Given the description of an element on the screen output the (x, y) to click on. 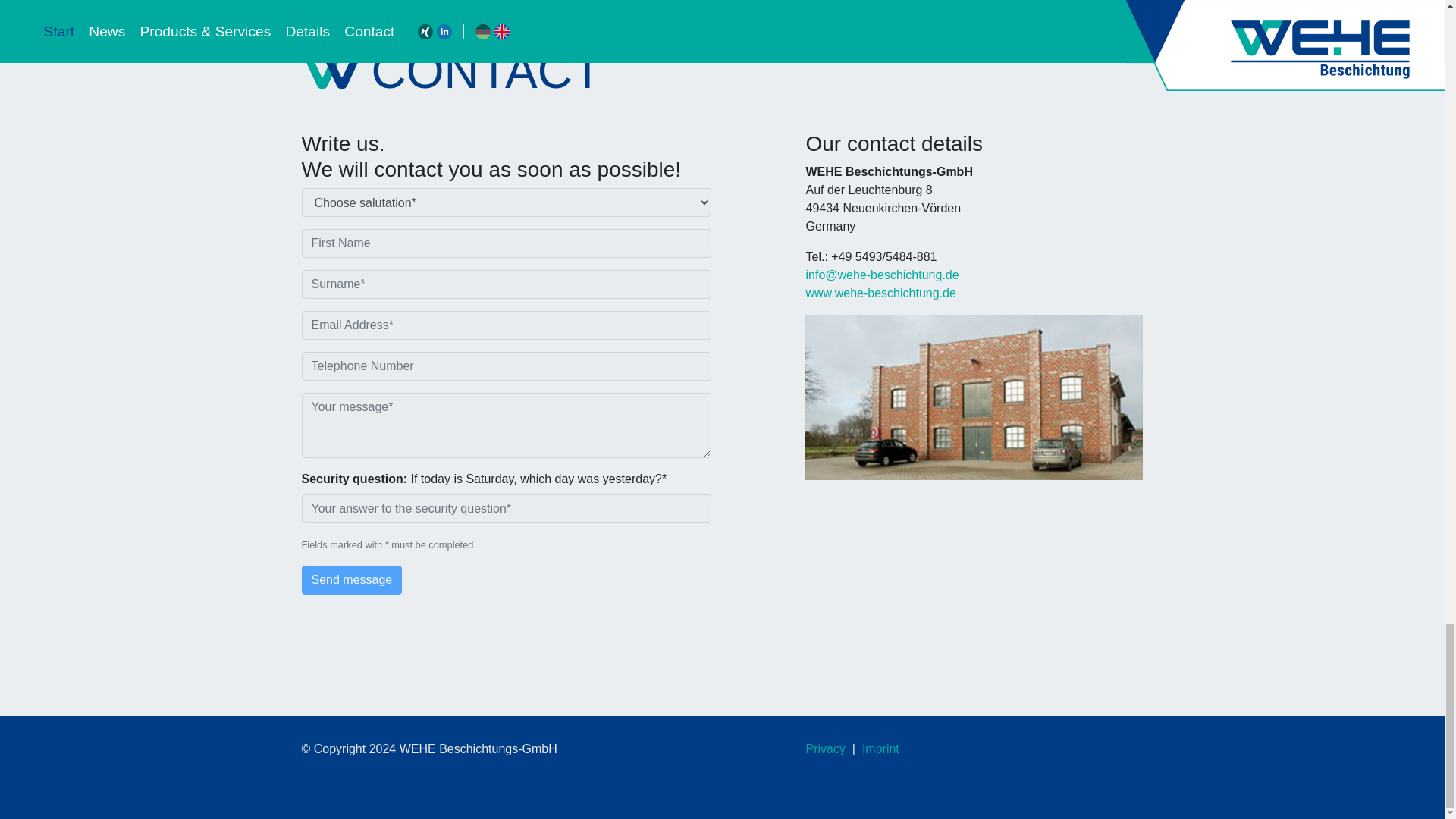
Send message (352, 579)
